Given the description of an element on the screen output the (x, y) to click on. 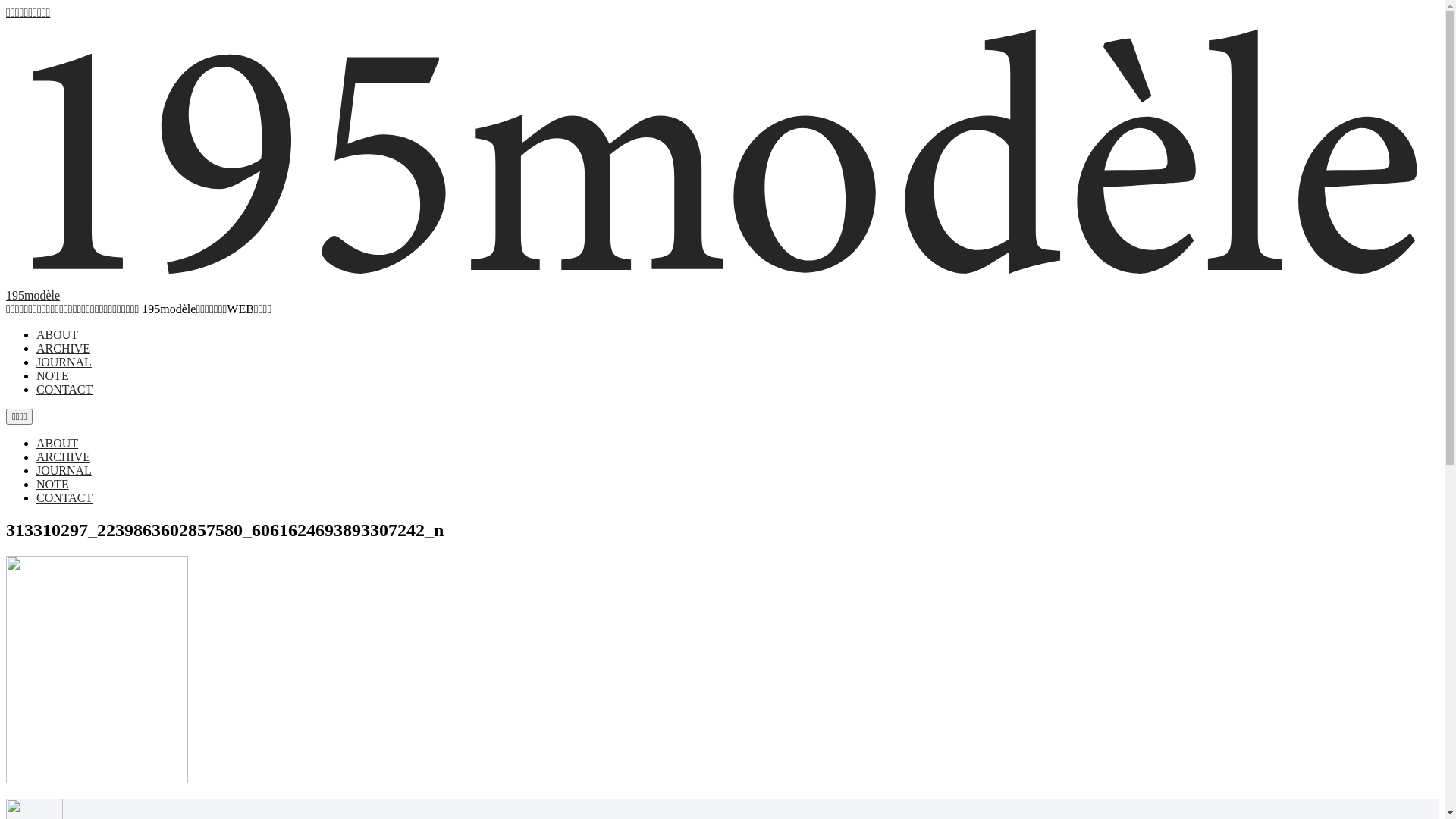
JOURNAL Element type: text (63, 470)
ARCHIVE Element type: text (63, 348)
ABOUT Element type: text (57, 442)
CONTACT Element type: text (64, 388)
JOURNAL Element type: text (63, 361)
NOTE Element type: text (52, 375)
ABOUT Element type: text (57, 334)
CONTACT Element type: text (64, 497)
ARCHIVE Element type: text (63, 456)
NOTE Element type: text (52, 483)
